Given the description of an element on the screen output the (x, y) to click on. 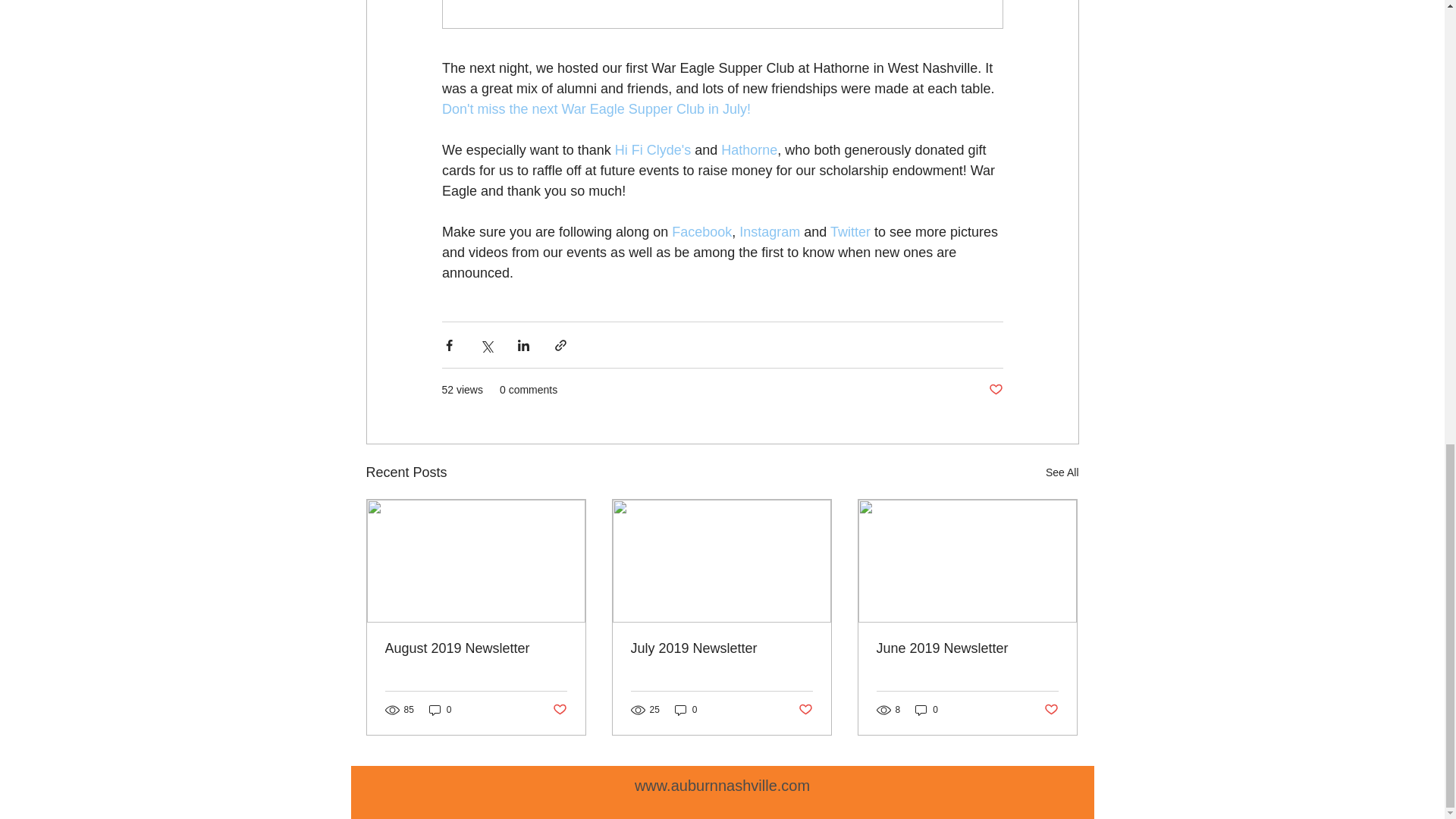
0 (440, 709)
August 2019 Newsletter (476, 648)
Instagram (769, 231)
Post not marked as liked (558, 709)
www.auburnnashville.com (721, 785)
Facebook (701, 231)
Twitter (849, 231)
Don't miss the next War Eagle Supper Club in July! (595, 109)
Post not marked as liked (1050, 709)
June 2019 Newsletter (967, 648)
See All (1061, 472)
0 (926, 709)
0 (685, 709)
Hathorne (748, 150)
Post not marked as liked (804, 709)
